Given the description of an element on the screen output the (x, y) to click on. 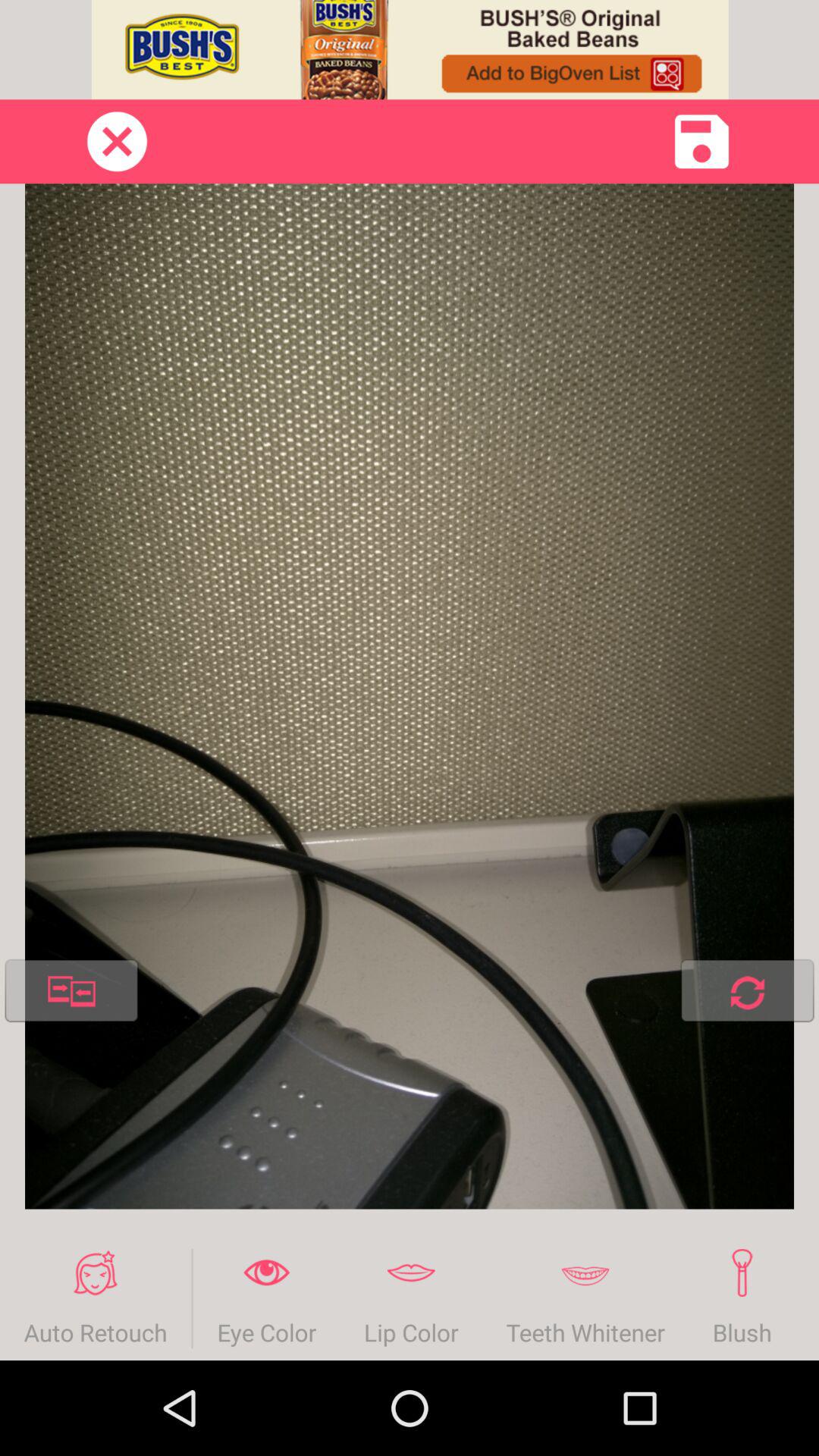
press item next to foundation icon (741, 1298)
